Given the description of an element on the screen output the (x, y) to click on. 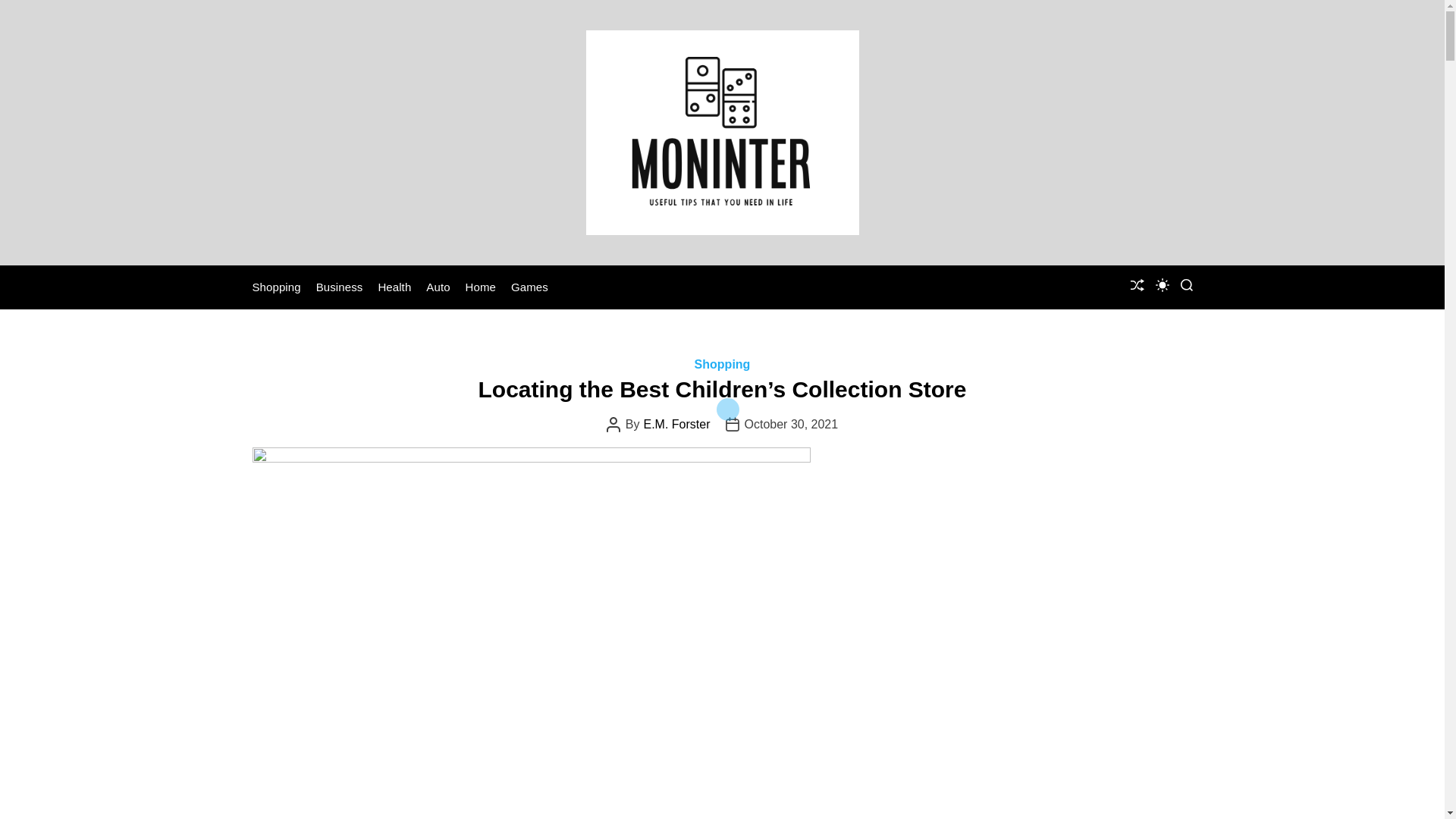
Shopping (275, 287)
Games (529, 287)
Home (480, 287)
E.M. Forster (676, 424)
SWITCH COLOR MODE (1162, 284)
Business (338, 287)
Health (393, 287)
Shopping (722, 364)
